Given the description of an element on the screen output the (x, y) to click on. 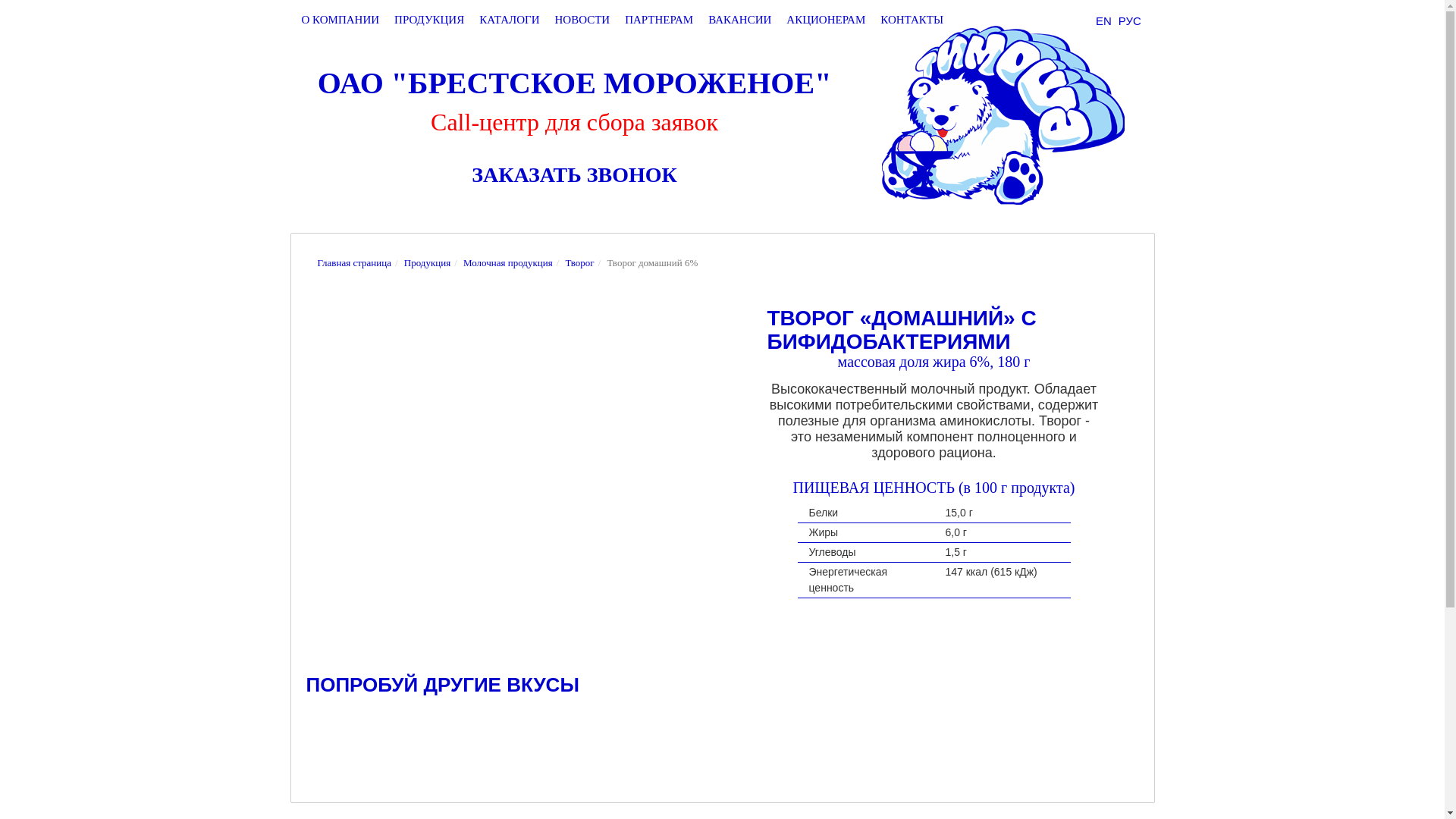
EN Element type: text (1103, 20)
